Given the description of an element on the screen output the (x, y) to click on. 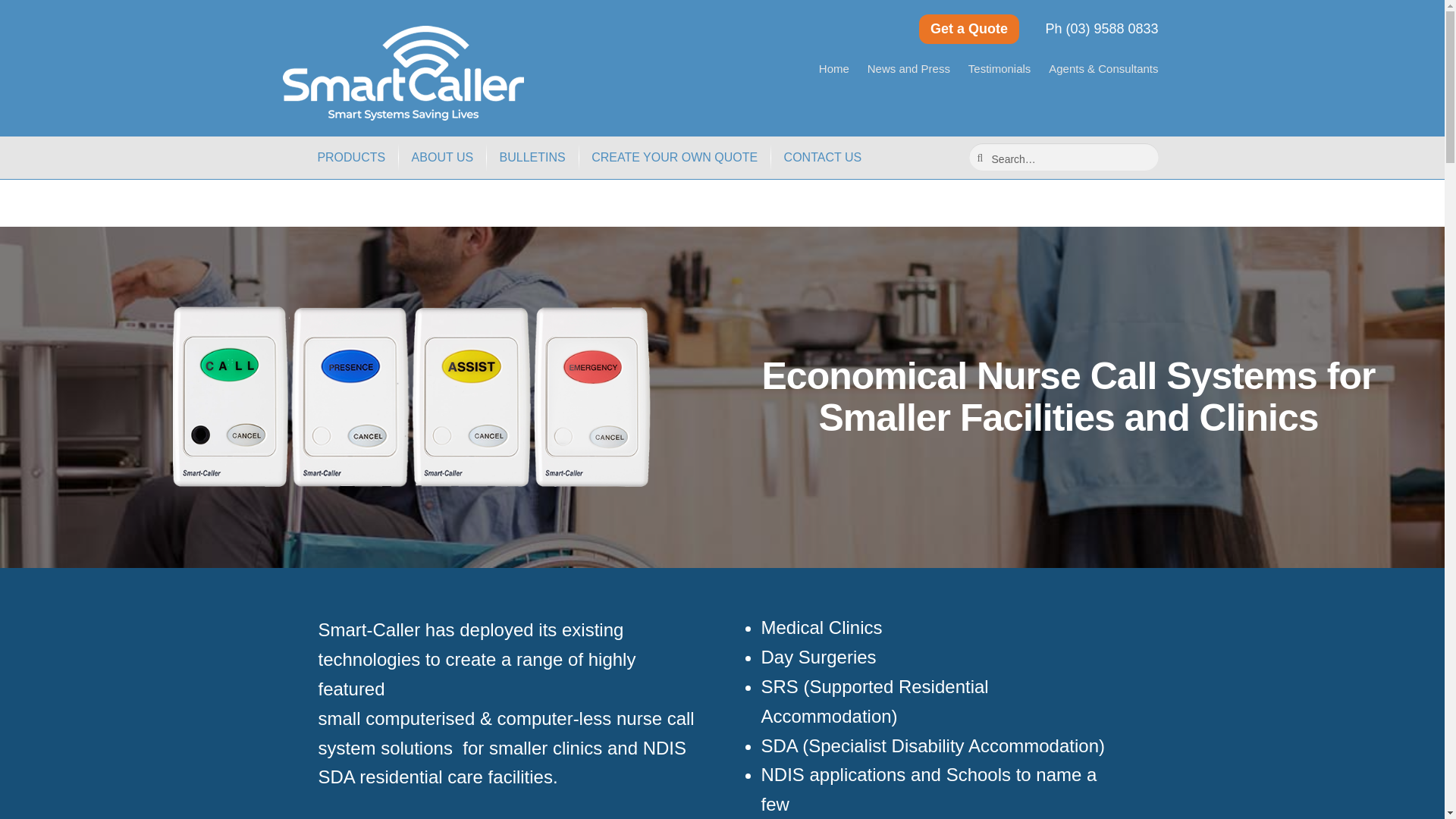
Search (1002, 157)
Home (833, 68)
Get a Quote (968, 29)
CONTACT US (823, 157)
Testimonials (999, 68)
CREATE YOUR OWN QUOTE (673, 157)
Search for: (1063, 156)
BULLETINS (531, 157)
News and Press (909, 68)
ABOUT US (442, 157)
PRODUCTS (350, 157)
